Given the description of an element on the screen output the (x, y) to click on. 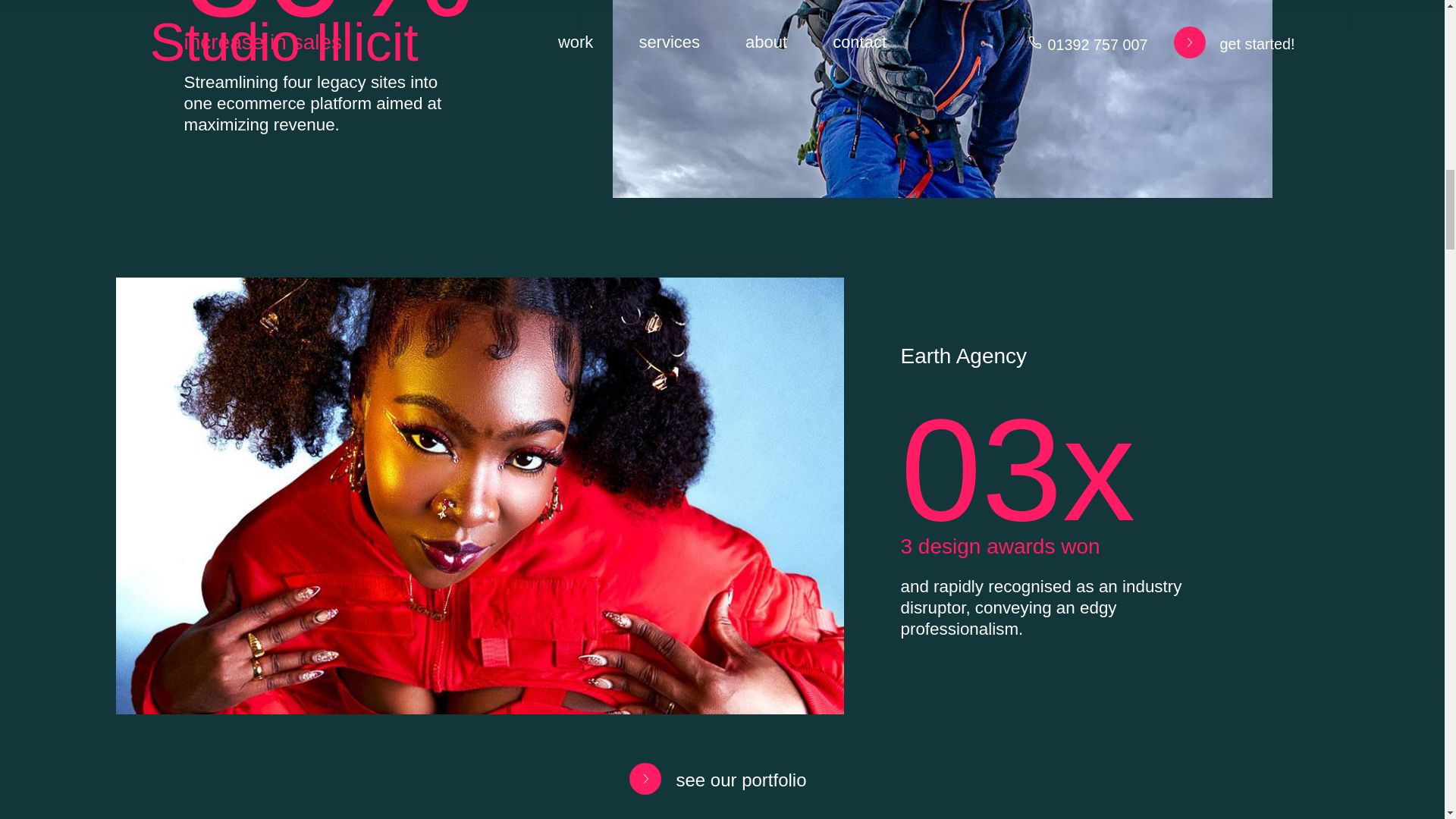
see our portfolio (710, 778)
